Given the description of an element on the screen output the (x, y) to click on. 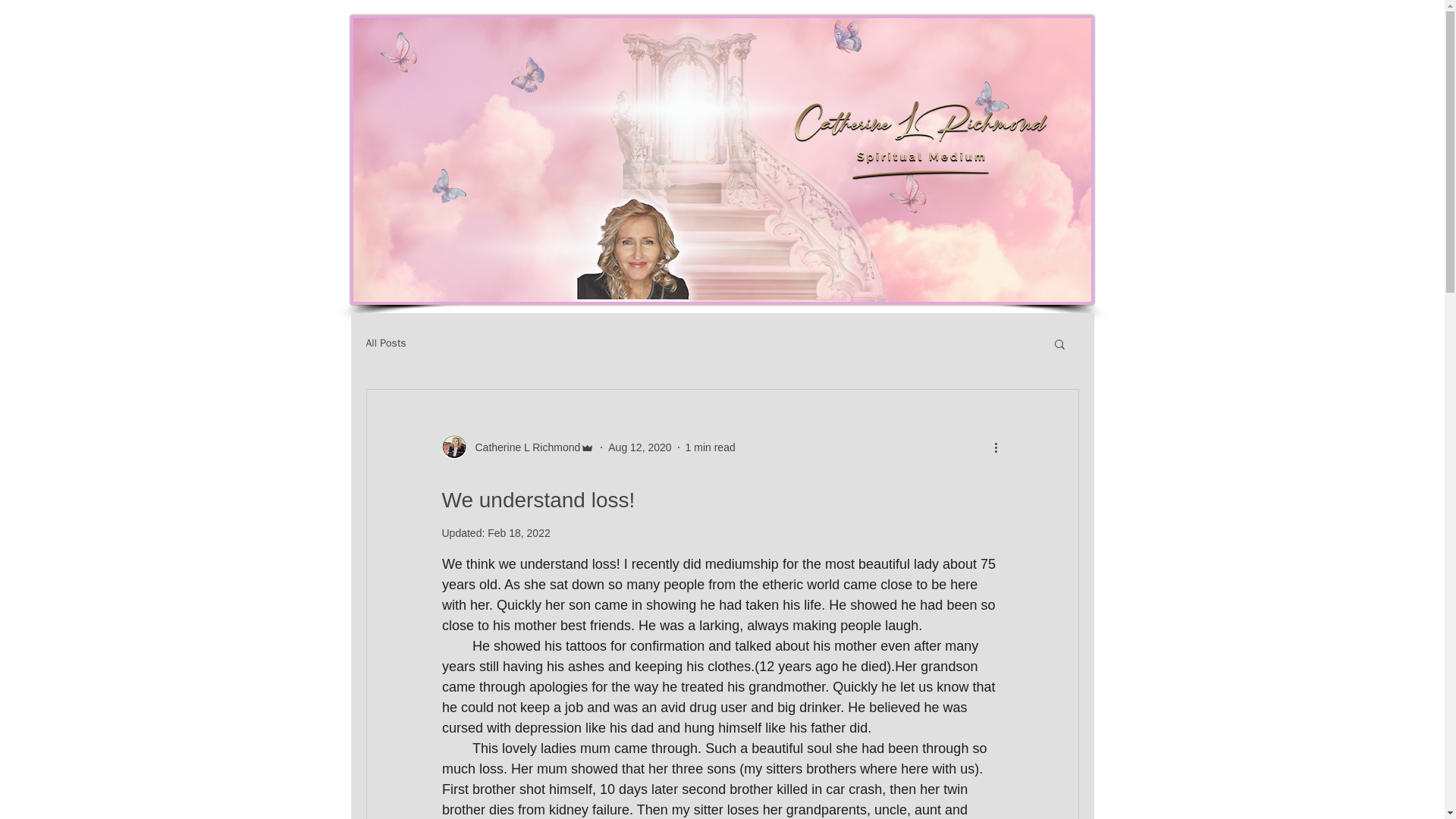
Catherine L Richmond (517, 446)
Aug 12, 2020 (639, 447)
1 min read (710, 447)
All Posts (385, 343)
Catherine L Richmond (522, 447)
Feb 18, 2022 (518, 532)
